Given the description of an element on the screen output the (x, y) to click on. 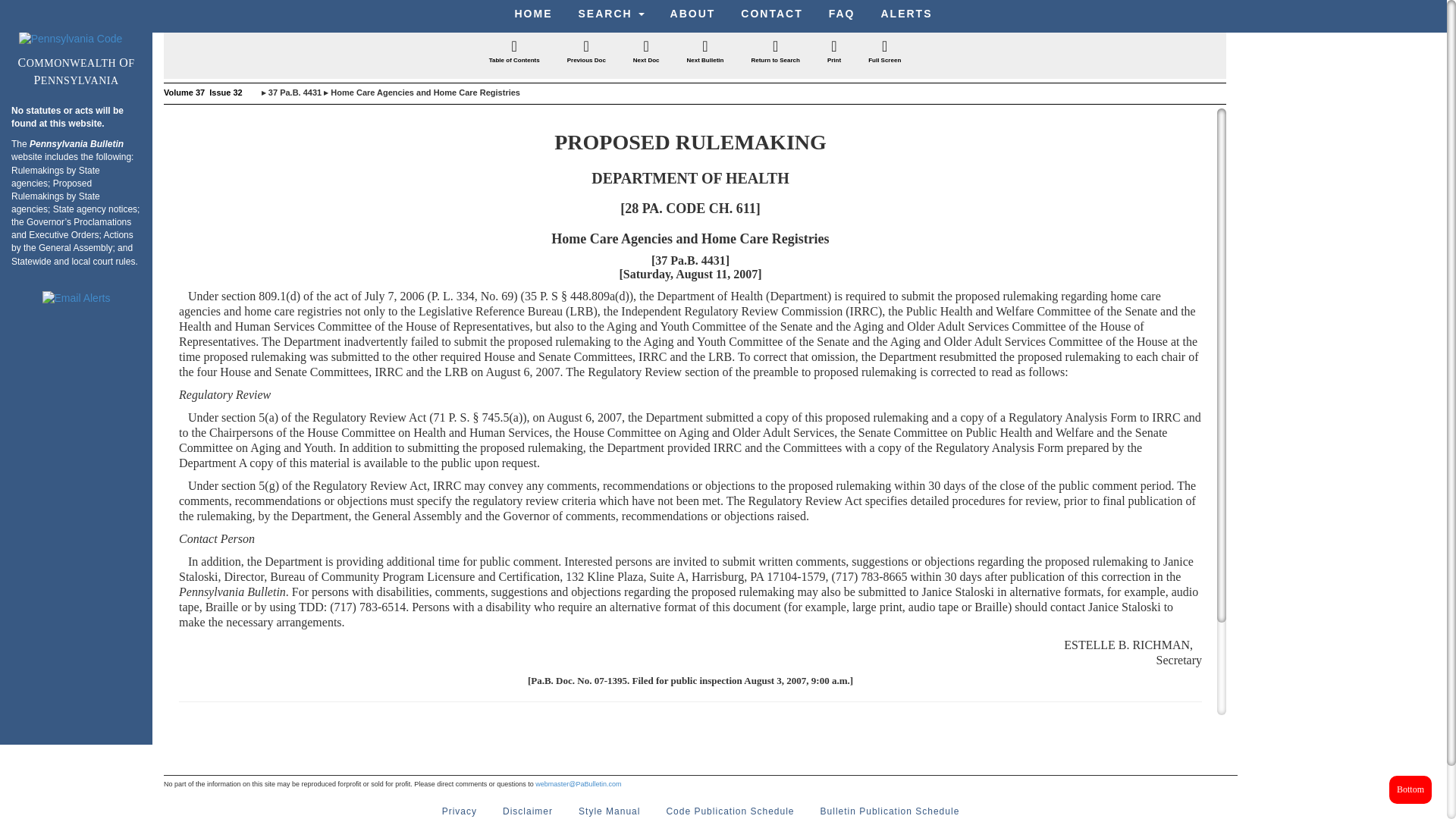
Bulletin Publication Schedule (890, 808)
View PDF for this issue (251, 92)
FAQ (841, 13)
ABOUT (692, 13)
Table of Contents (514, 52)
Full Screen (884, 52)
Email Alerts (76, 298)
Bottom (1410, 789)
Code Publication Schedule (729, 808)
Return to Search (774, 52)
Go to bottom (1410, 789)
Next Doc (646, 52)
Previous Doc (586, 52)
Next Bulletin (705, 52)
Next Doc (646, 52)
